Given the description of an element on the screen output the (x, y) to click on. 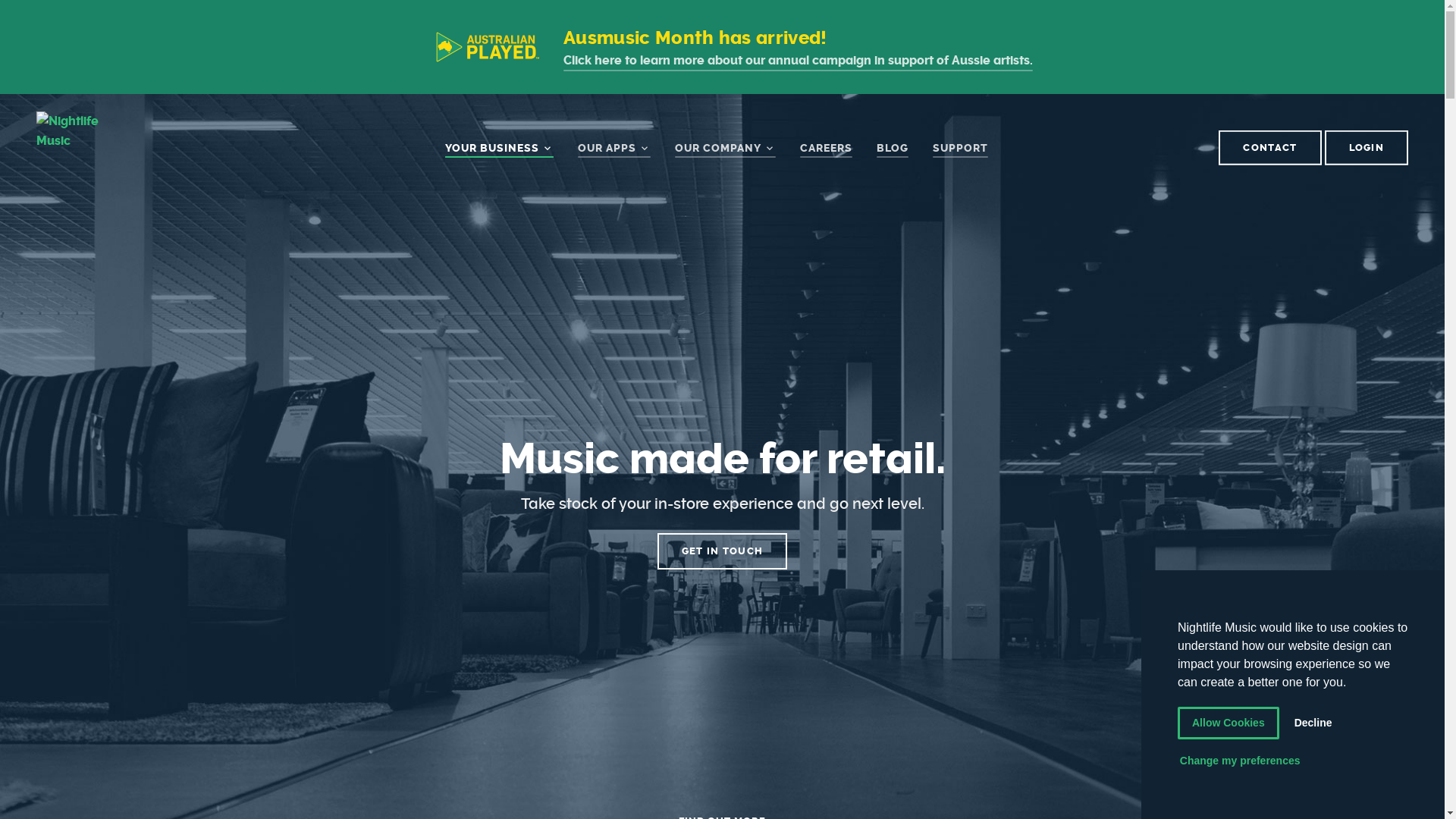
CAREERS Element type: text (825, 148)
LOGIN Element type: text (1366, 147)
YOUR BUSINESSkeyboard_arrow_down Element type: text (498, 148)
CONTACT Element type: text (1269, 147)
GET IN TOUCH Element type: text (722, 551)
BLOG Element type: text (892, 148)
Decline Element type: text (1313, 723)
OUR COMPANYkeyboard_arrow_down Element type: text (724, 148)
OUR APPSkeyboard_arrow_down Element type: text (613, 148)
SUPPORT Element type: text (960, 148)
Allow Cookies Element type: text (1228, 722)
Change my preferences Element type: text (1239, 760)
